Given the description of an element on the screen output the (x, y) to click on. 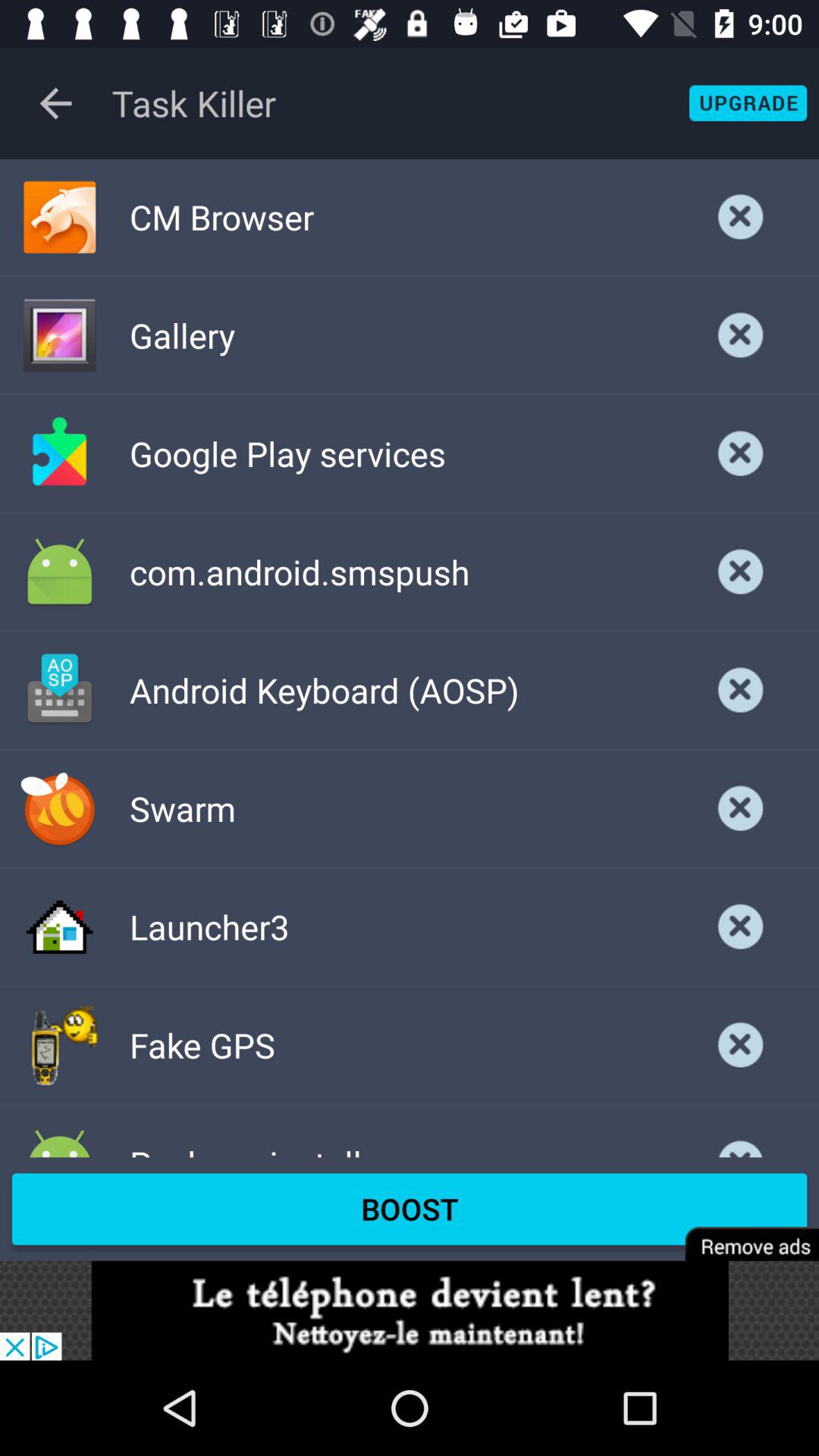
delete this option (740, 1136)
